Given the description of an element on the screen output the (x, y) to click on. 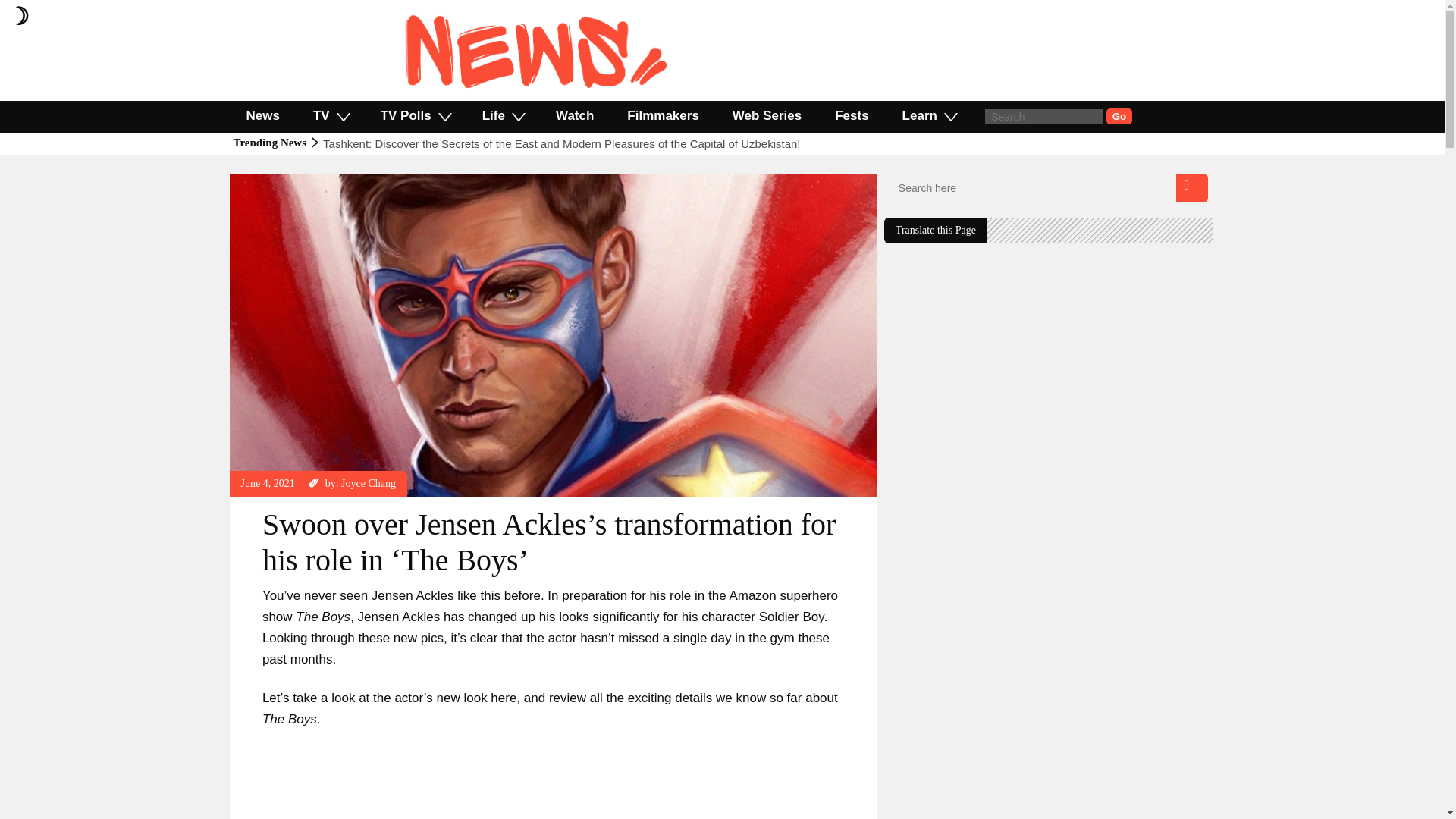
Go (1119, 116)
Go (1119, 116)
TV (330, 115)
TV Polls (414, 115)
News (297, 180)
News (261, 115)
Watch (574, 115)
Lifestyle (259, 180)
Go (1119, 116)
